Given the description of an element on the screen output the (x, y) to click on. 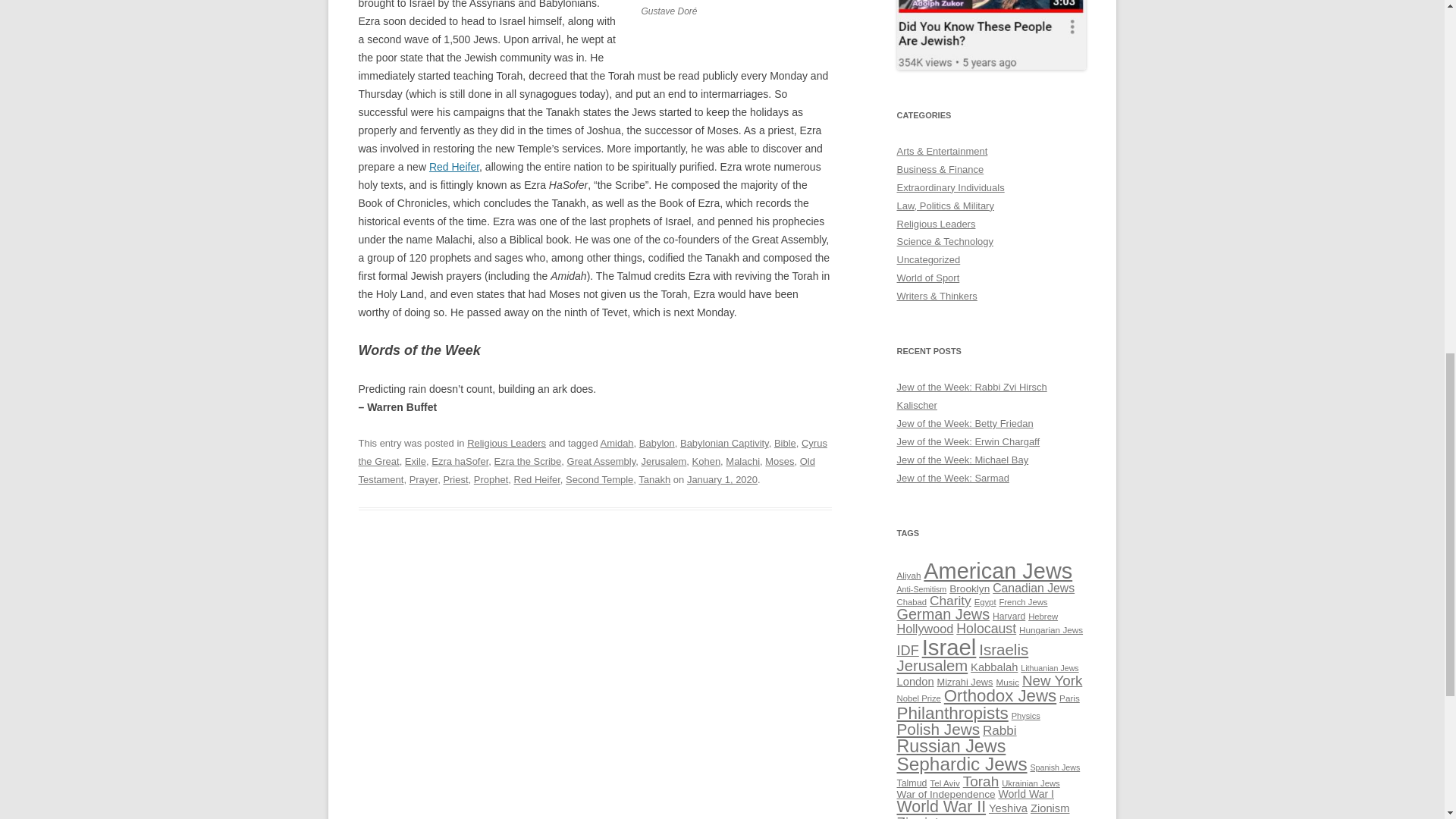
Red Heifer (454, 166)
Ezra the Scribe (528, 460)
Great Assembly (601, 460)
Religious Leaders (506, 442)
8:42 pm (722, 479)
Red Heifer (536, 479)
Old Testament (585, 470)
Exile (415, 460)
Prayer (423, 479)
Cyrus the Great (592, 451)
Amidah (616, 442)
January 1, 2020 (722, 479)
Babylon (657, 442)
Jerusalem (662, 460)
Priest (454, 479)
